Given the description of an element on the screen output the (x, y) to click on. 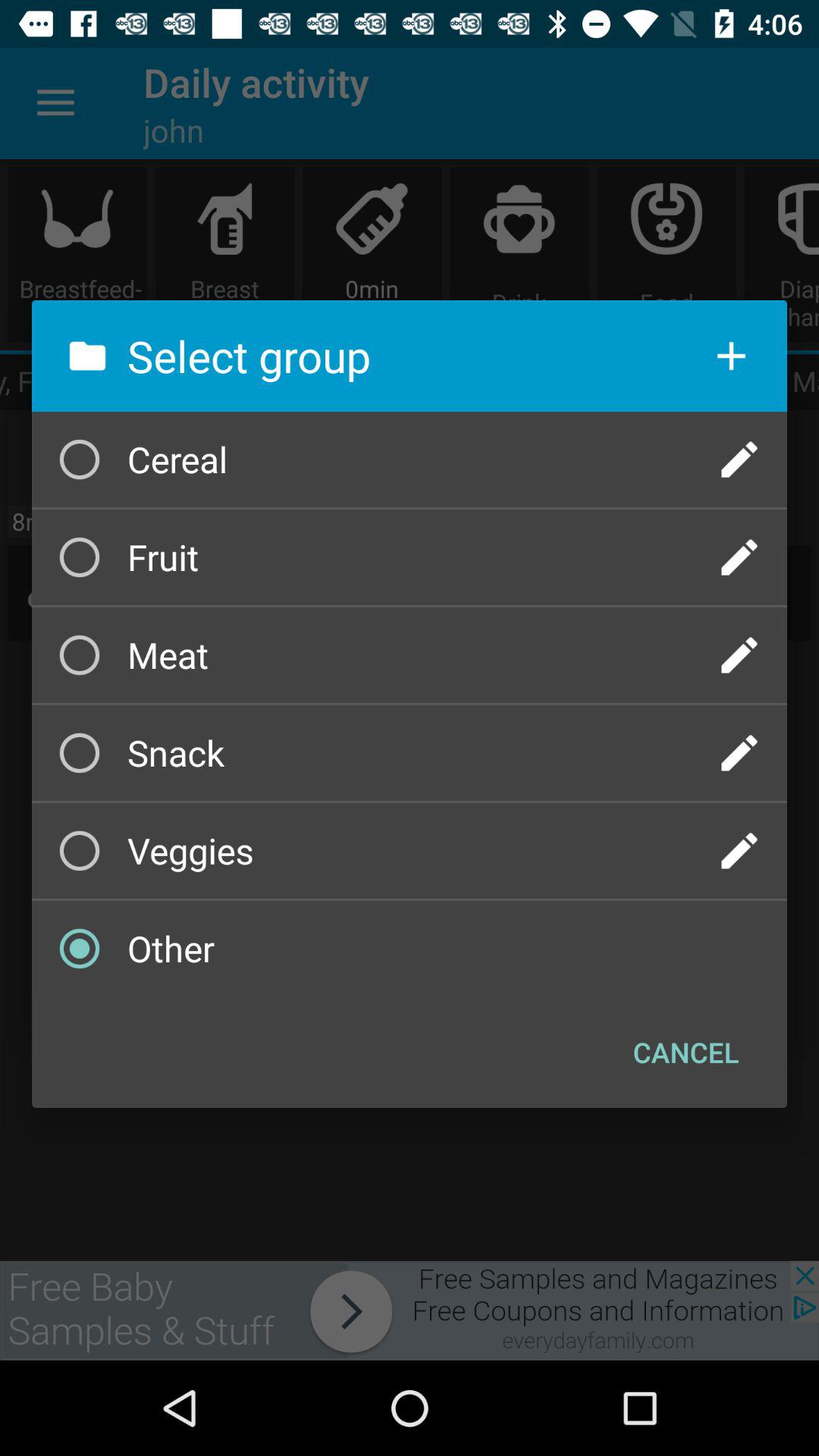
add selection to list (731, 355)
